Given the description of an element on the screen output the (x, y) to click on. 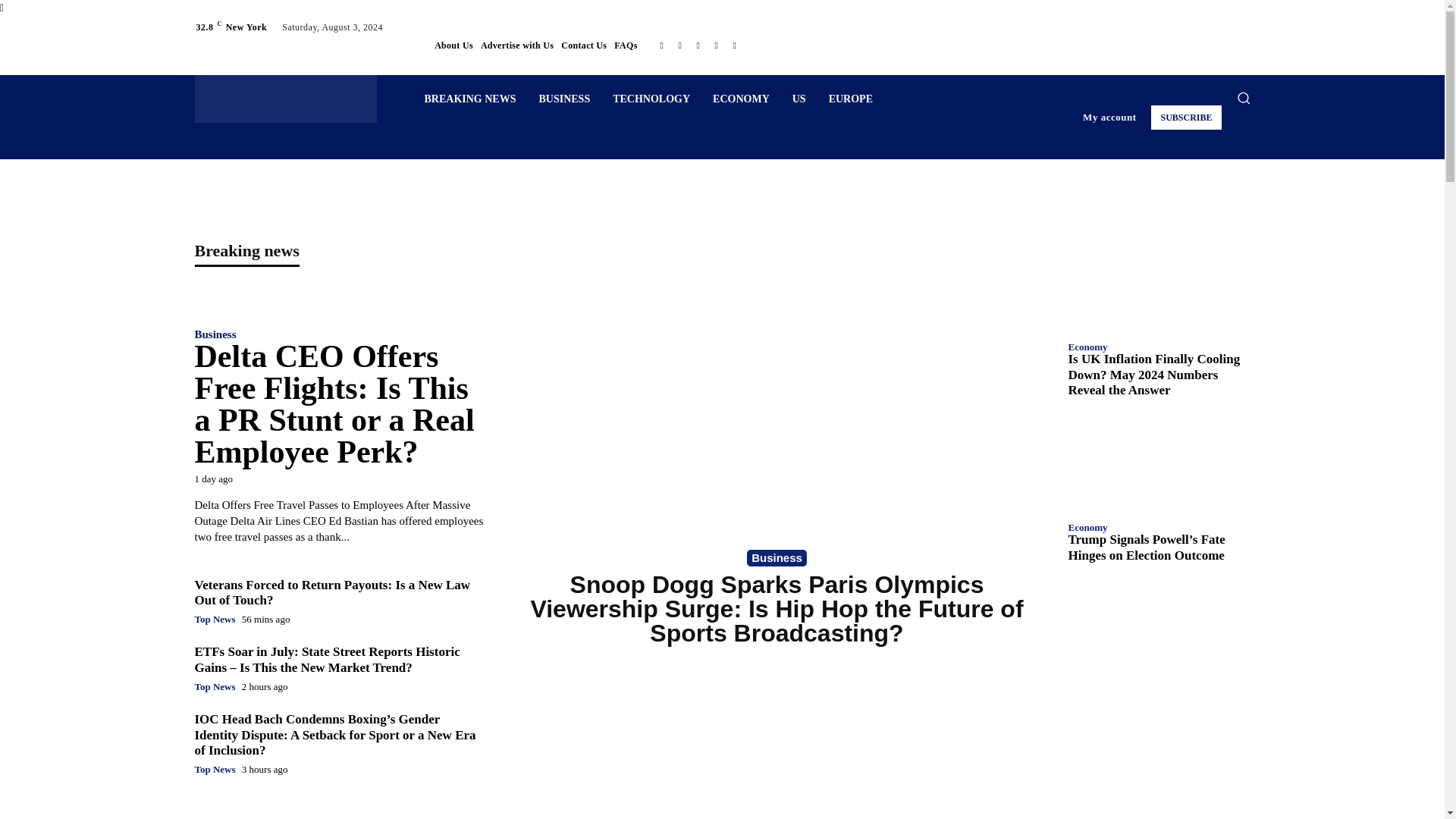
SUBSCRIBE (1186, 116)
Subscribe (1186, 116)
Advertise with Us (516, 45)
Website (734, 45)
Medium (679, 45)
BREAKING NEWS (469, 99)
RSS (697, 45)
TECHNOLOGY (651, 99)
BUSINESS (564, 99)
Twitter (716, 45)
